Given the description of an element on the screen output the (x, y) to click on. 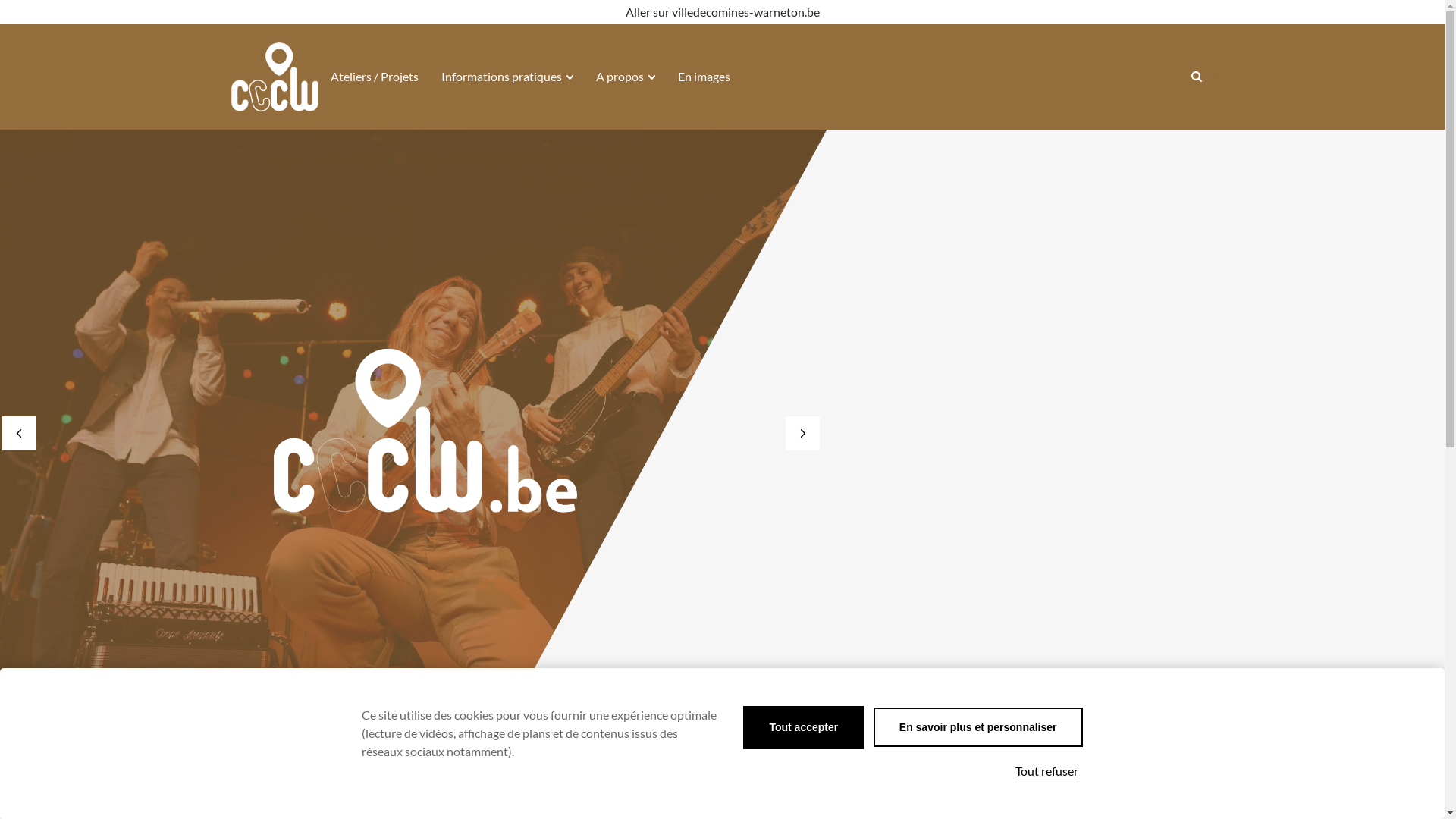
En savoir plus et personnaliser Element type: text (977, 726)
Centre culturel Element type: hover (273, 76)
Tout accepter Element type: text (803, 727)
Accueil Element type: text (270, 750)
En images Element type: text (703, 76)
Centre culturel Element type: hover (273, 76)
Tout refuser Element type: text (1046, 771)
A propos Element type: text (625, 76)
Aller sur villedecomines-warneton.be Element type: text (721, 11)
Ateliers / Projets Element type: text (374, 76)
Rechercher Element type: text (1195, 76)
Informations pratiques Element type: text (507, 76)
